Given the description of an element on the screen output the (x, y) to click on. 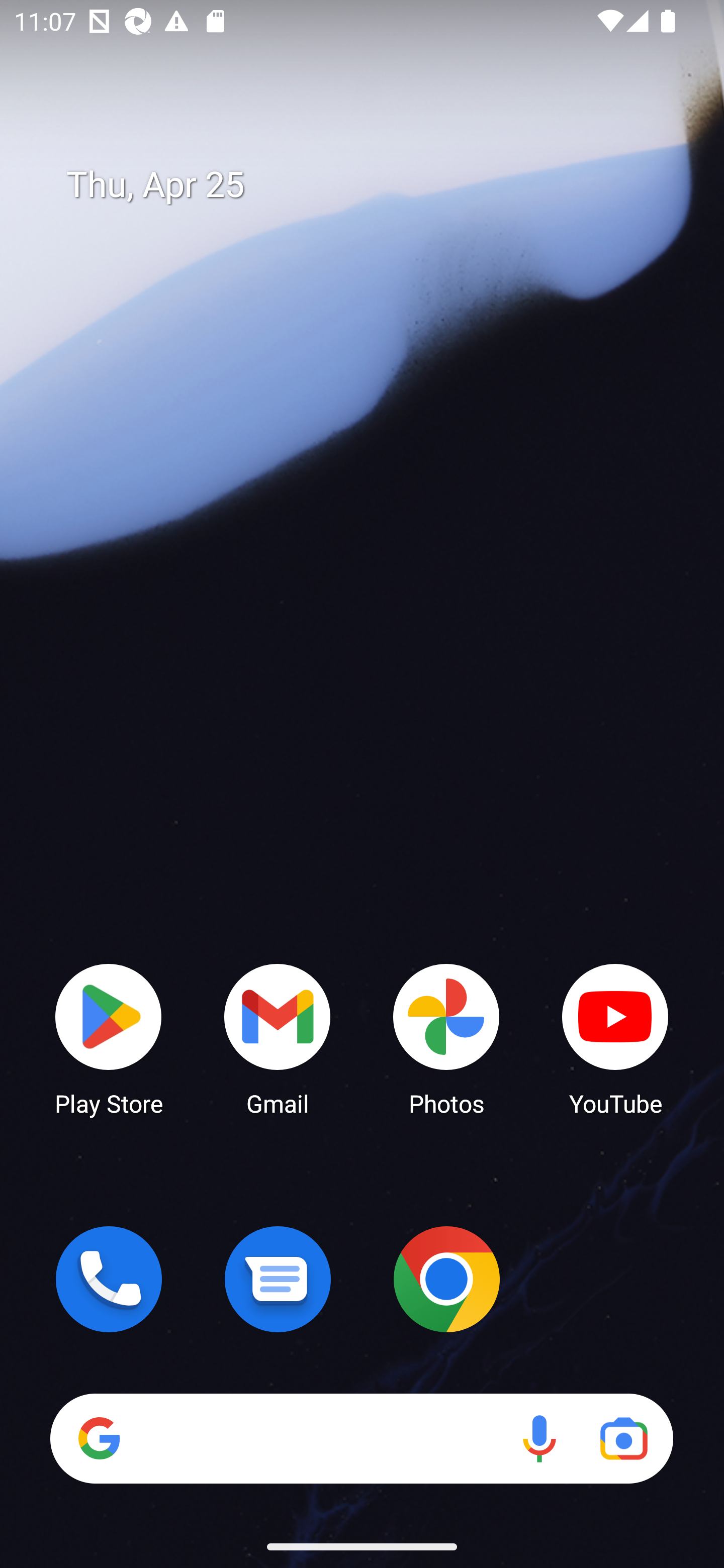
Thu, Apr 25 (375, 184)
Play Store (108, 1038)
Gmail (277, 1038)
Photos (445, 1038)
YouTube (615, 1038)
Phone (108, 1279)
Messages (277, 1279)
Chrome (446, 1279)
Search Voice search Google Lens (361, 1438)
Voice search (539, 1438)
Google Lens (623, 1438)
